Given the description of an element on the screen output the (x, y) to click on. 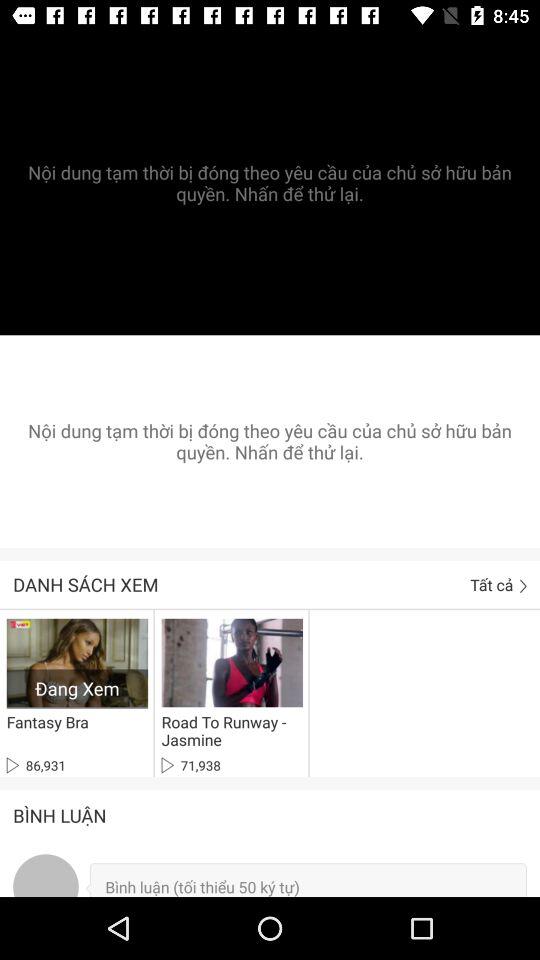
swipe until the fantasy bra item (47, 721)
